Given the description of an element on the screen output the (x, y) to click on. 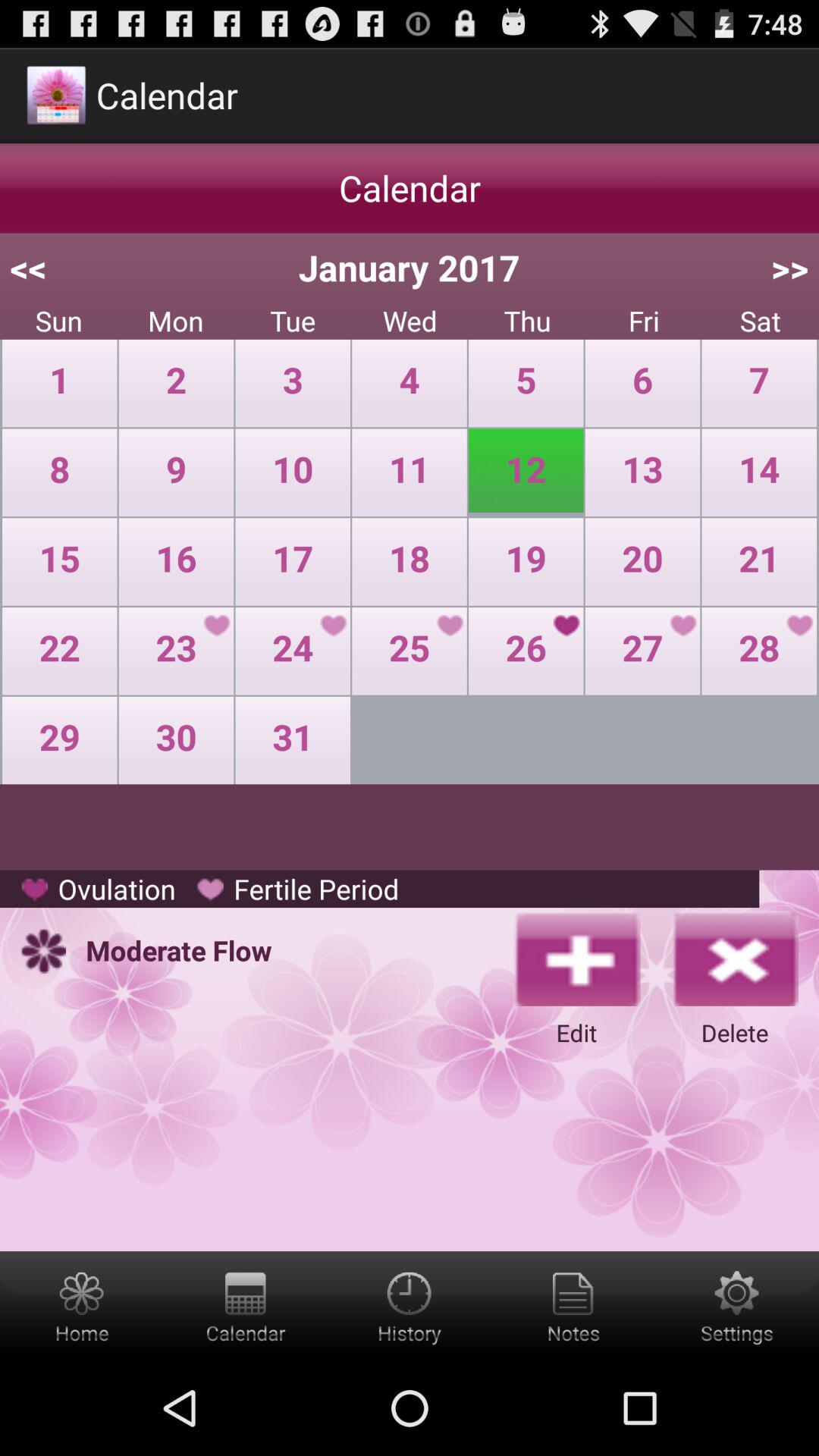
settings (737, 1305)
